Given the description of an element on the screen output the (x, y) to click on. 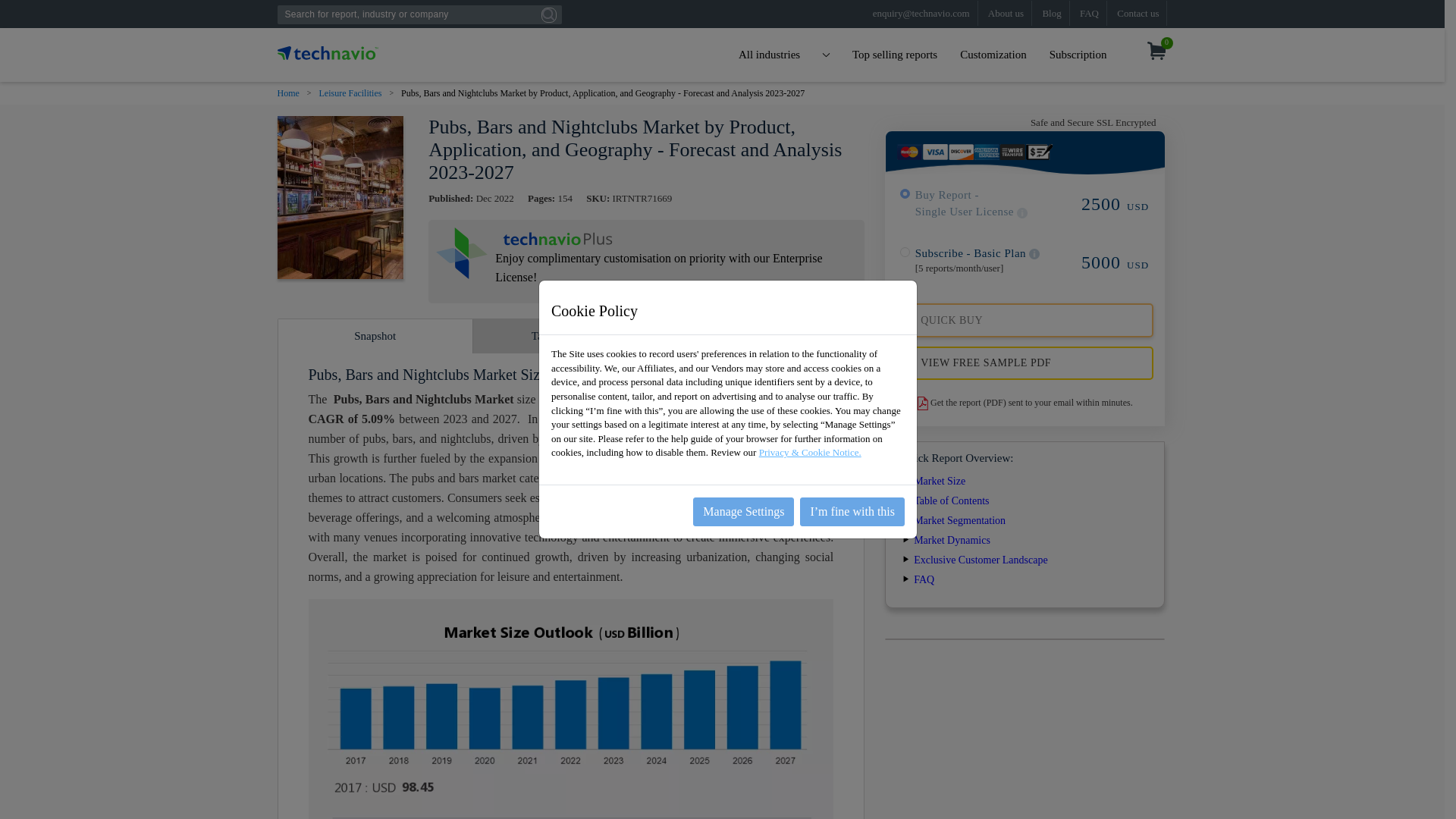
Top selling reports (894, 54)
Contact us (1138, 12)
Blog (1050, 12)
All industries (783, 54)
Customization (993, 54)
340173 (904, 194)
on (904, 252)
FAQ (1088, 12)
About us (1005, 12)
All industries (783, 54)
Subscription (1077, 54)
